Given the description of an element on the screen output the (x, y) to click on. 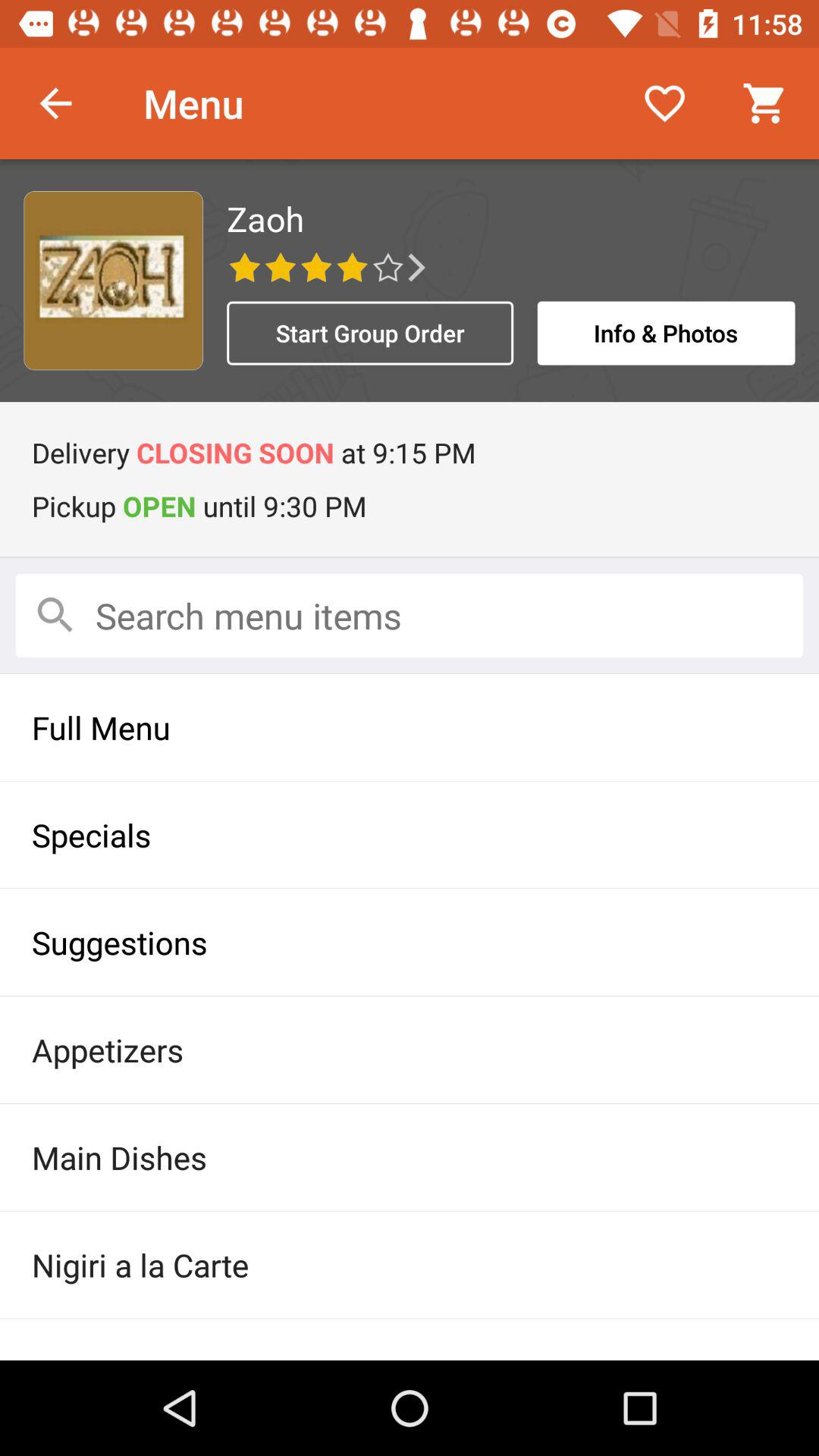
turn on item above full menu item (409, 615)
